Given the description of an element on the screen output the (x, y) to click on. 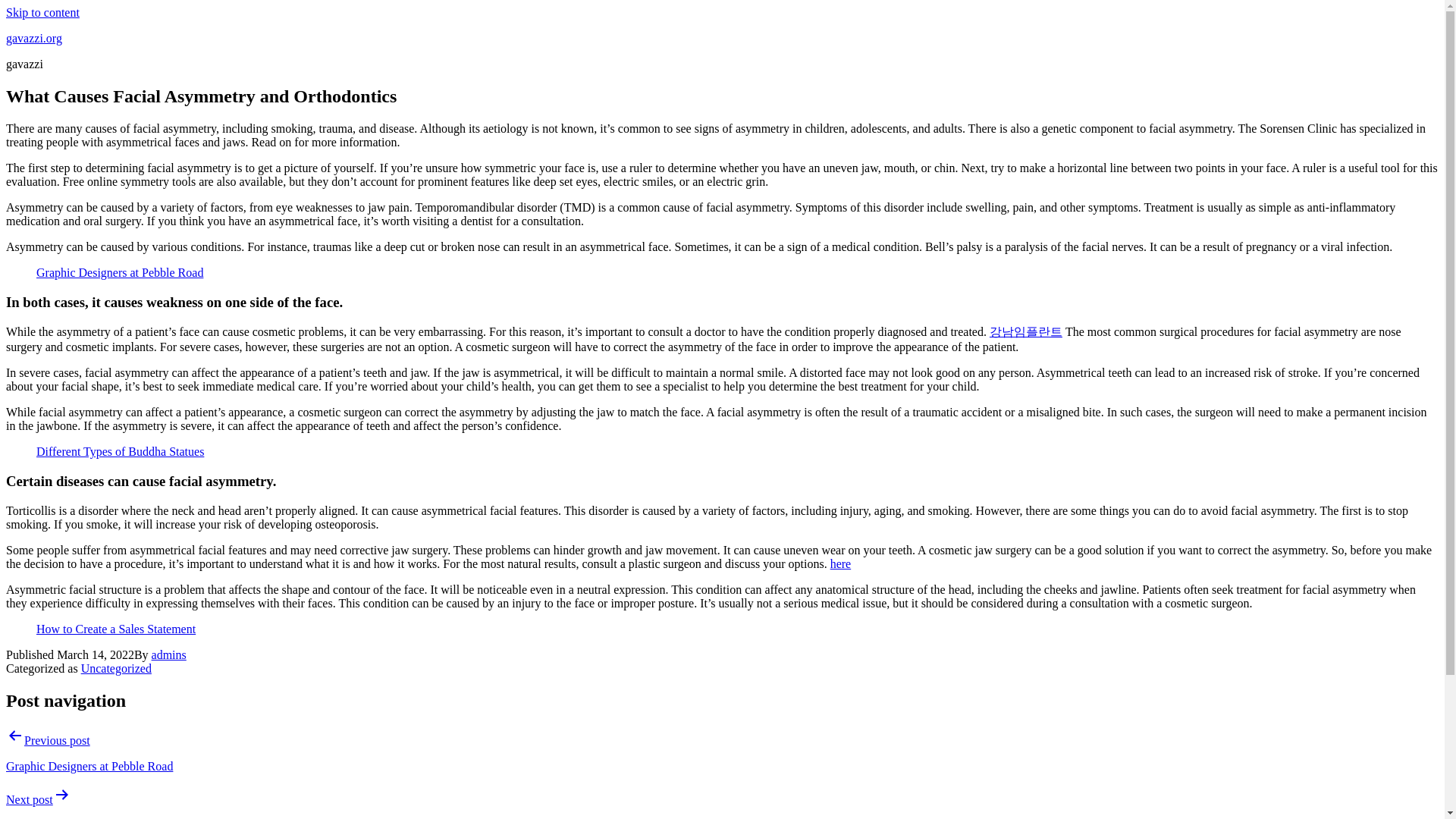
Graphic Designers at Pebble Road (119, 272)
How to Create a Sales Statement (115, 628)
Skip to content (42, 11)
gavazzi.org (33, 38)
Different Types of Buddha Statues (119, 451)
admins (168, 654)
Uncategorized (116, 667)
here (840, 563)
